Given the description of an element on the screen output the (x, y) to click on. 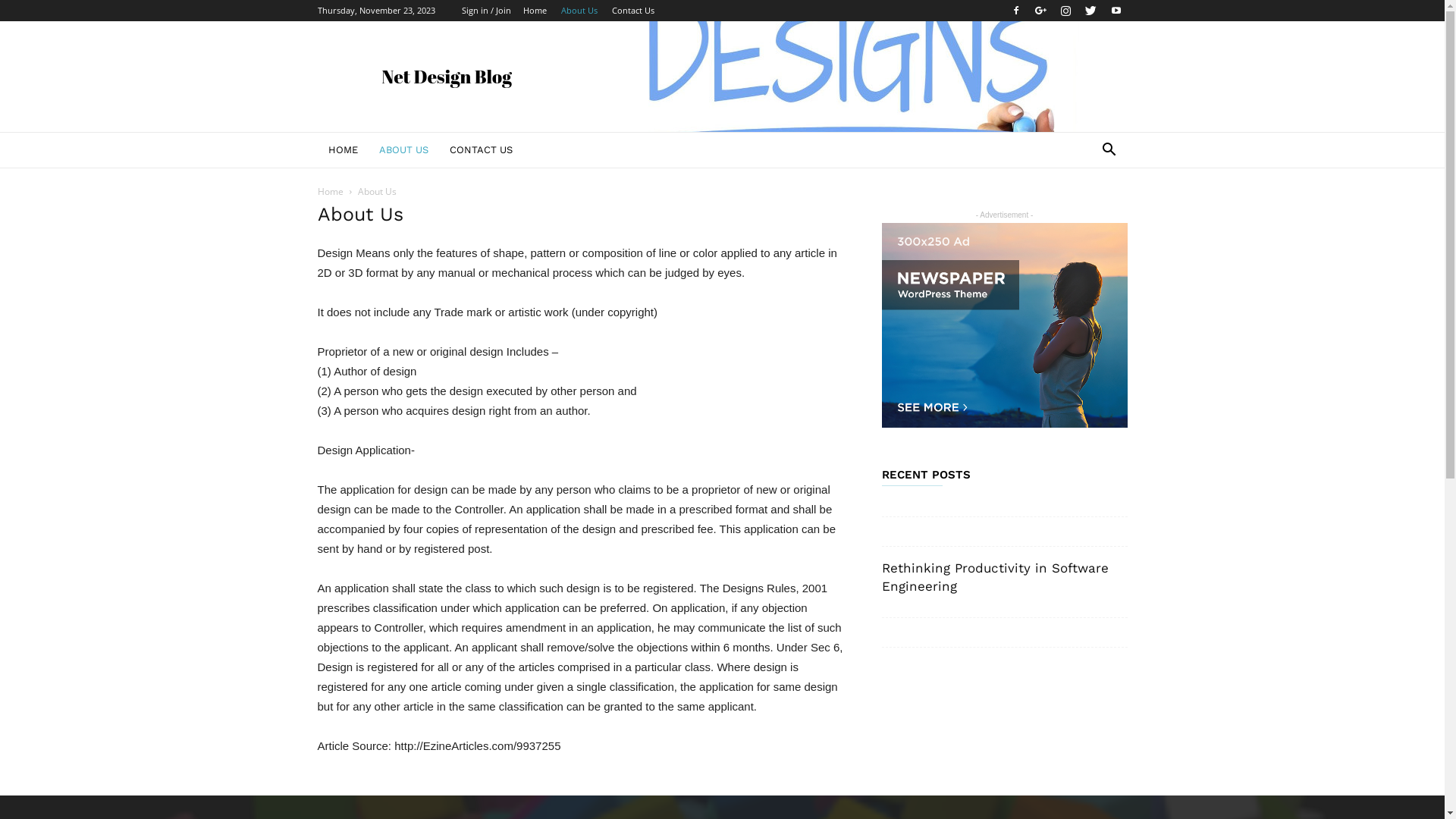
Sign in / Join Element type: text (485, 9)
Home Element type: text (329, 191)
Rethinking Productivity in Software Engineering Element type: text (994, 576)
Search Element type: text (1085, 210)
Contact Us Element type: text (632, 9)
Google+ Element type: hover (1040, 10)
Twitter Element type: hover (1090, 10)
Instagram Element type: hover (1065, 10)
Youtube Element type: hover (1115, 10)
HOME Element type: text (341, 149)
ABOUT US Element type: text (403, 149)
Facebook Element type: hover (1015, 10)
CONTACT US Element type: text (480, 149)
Home Element type: text (534, 9)
About Us Element type: text (579, 9)
